Given the description of an element on the screen output the (x, y) to click on. 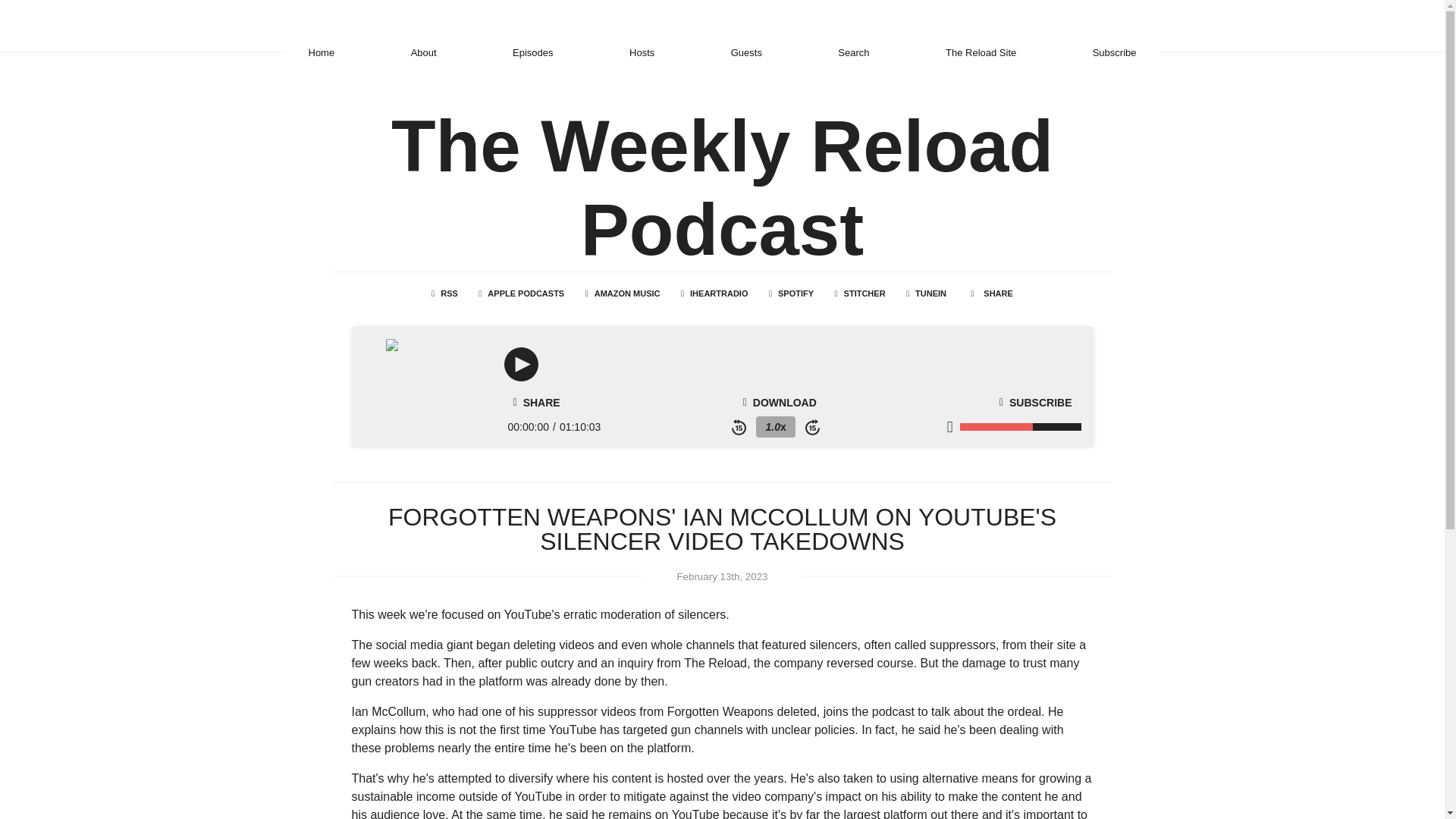
1.0x (774, 426)
RSS (444, 293)
AMAZON MUSIC (623, 293)
TUNEIN (925, 293)
SHARE (989, 293)
Search (853, 52)
The Reload Site (980, 52)
Subscribe (1115, 52)
STITCHER (860, 293)
DOWNLOAD (779, 402)
About (423, 52)
Hosts (640, 52)
SUBSCRIBE (1035, 402)
Guests (745, 52)
IHEARTRADIO (713, 293)
